Given the description of an element on the screen output the (x, y) to click on. 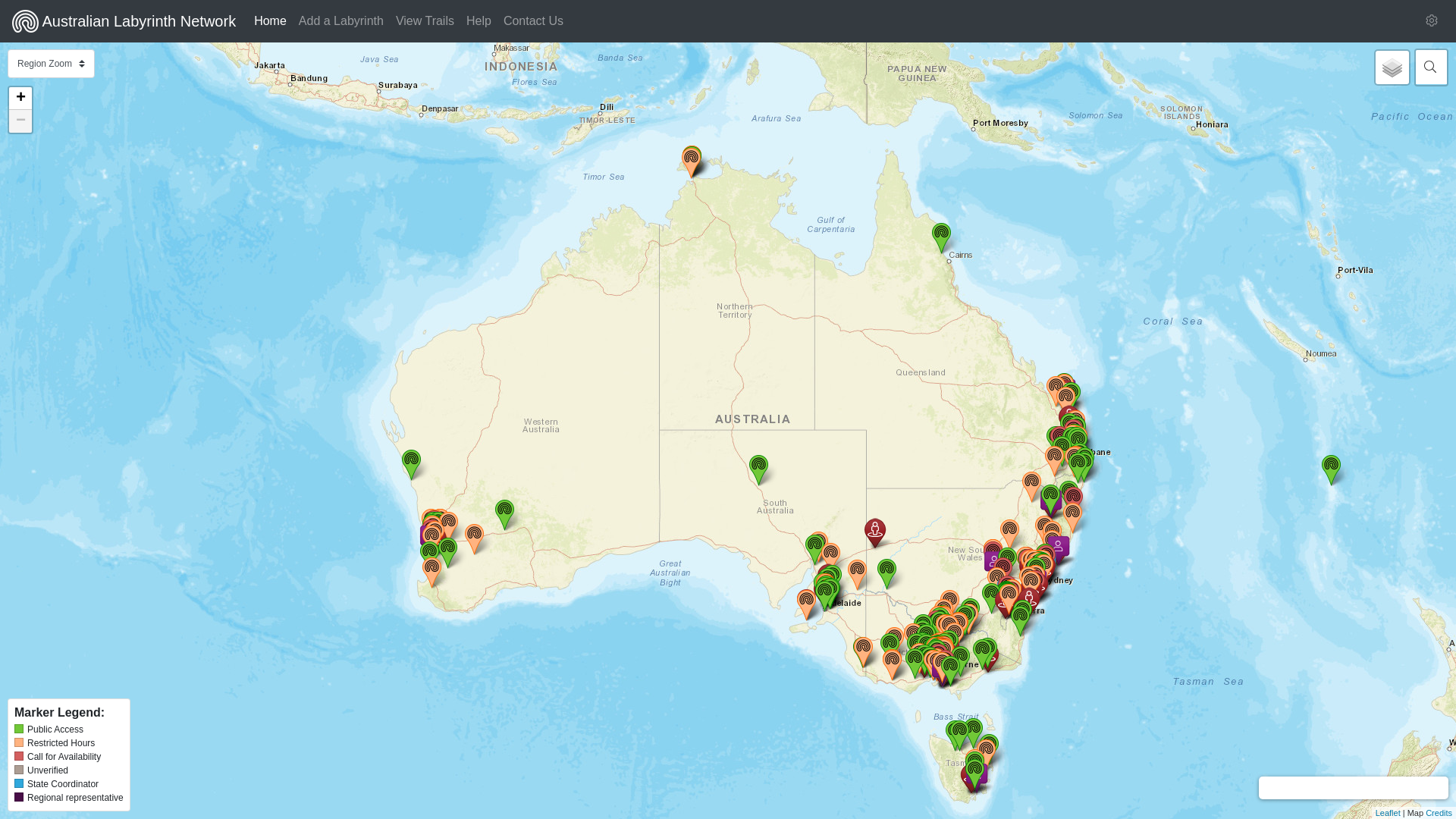
View Trails Element type: text (424, 21)
Search Labyrinths Element type: hover (1429, 67)
Credits Element type: text (1438, 812)
Leaflet Element type: text (1387, 812)
Help Element type: text (478, 21)
+ Element type: text (20, 98)
Add a Labyrinth Element type: text (340, 21)
Layers Element type: hover (1391, 67)
Contact Us Element type: text (533, 21)
Home
(current) Element type: text (269, 21)
Australian Labyrinth Network Element type: text (123, 21)
